Given the description of an element on the screen output the (x, y) to click on. 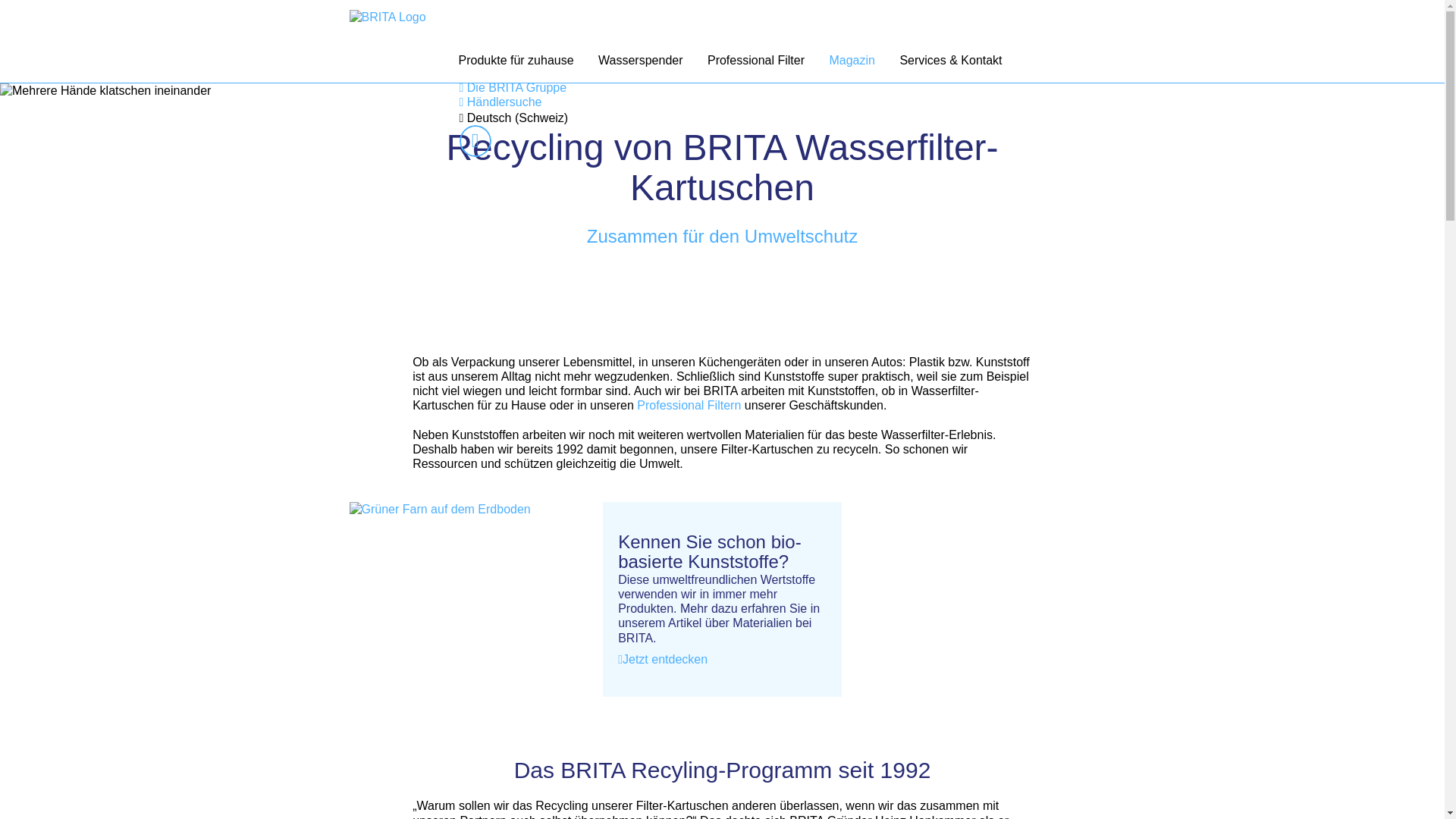
Professional Filtern Element type: text (688, 405)
Deutsch (Schweiz) Element type: text (513, 117)
Die BRITA Gruppe Element type: text (513, 87)
Kennen Sie schon bio-basierte Kunststoffe? Element type: text (722, 552)
Wasserspender Element type: text (640, 61)
Jetzt entdecken Element type: text (662, 658)
Professional Filter Element type: text (755, 61)
Magazin Element type: text (851, 61)
Services & Kontakt Element type: text (950, 61)
